Given the description of an element on the screen output the (x, y) to click on. 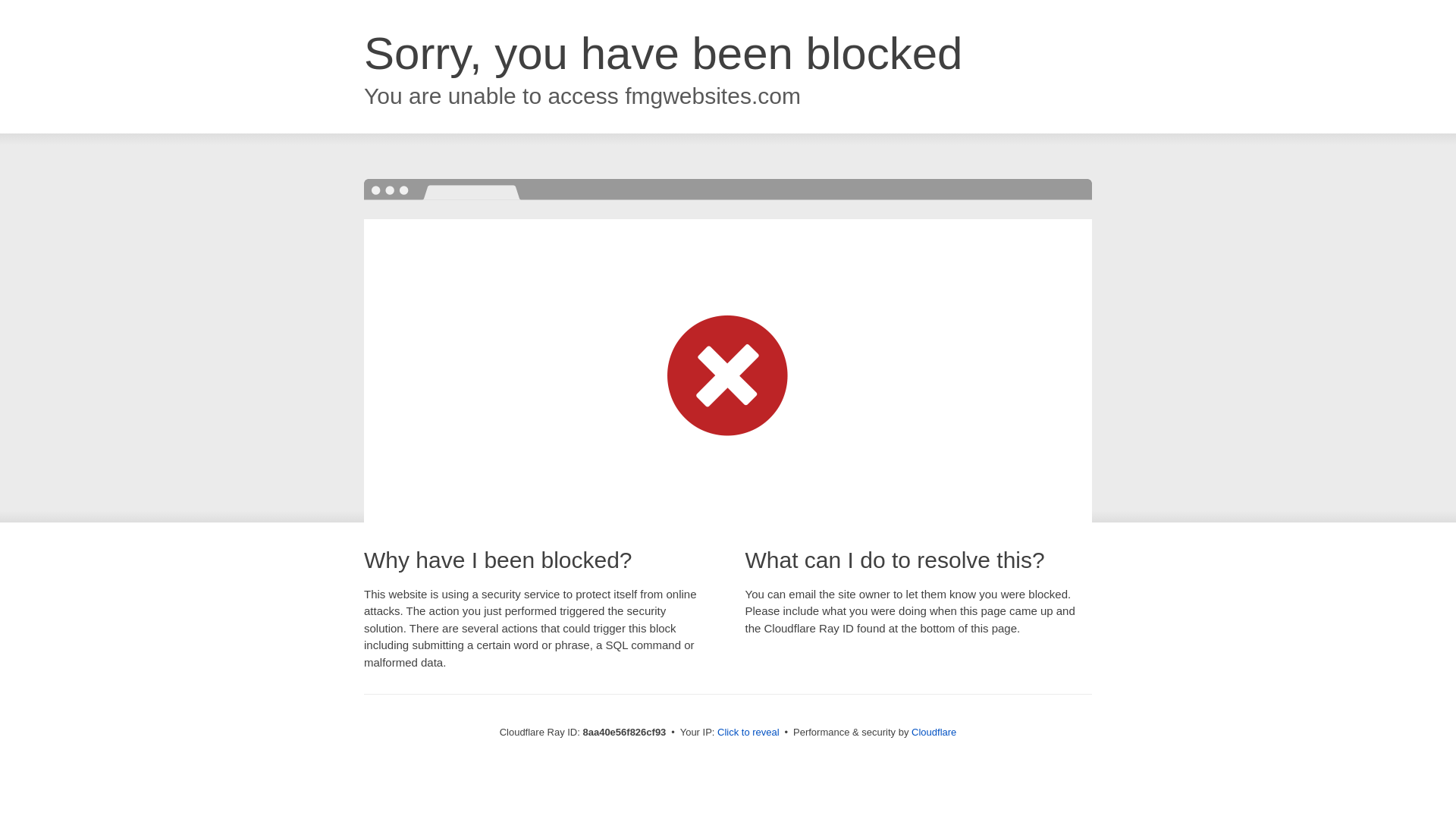
Cloudflare (933, 731)
Click to reveal (747, 732)
